Given the description of an element on the screen output the (x, y) to click on. 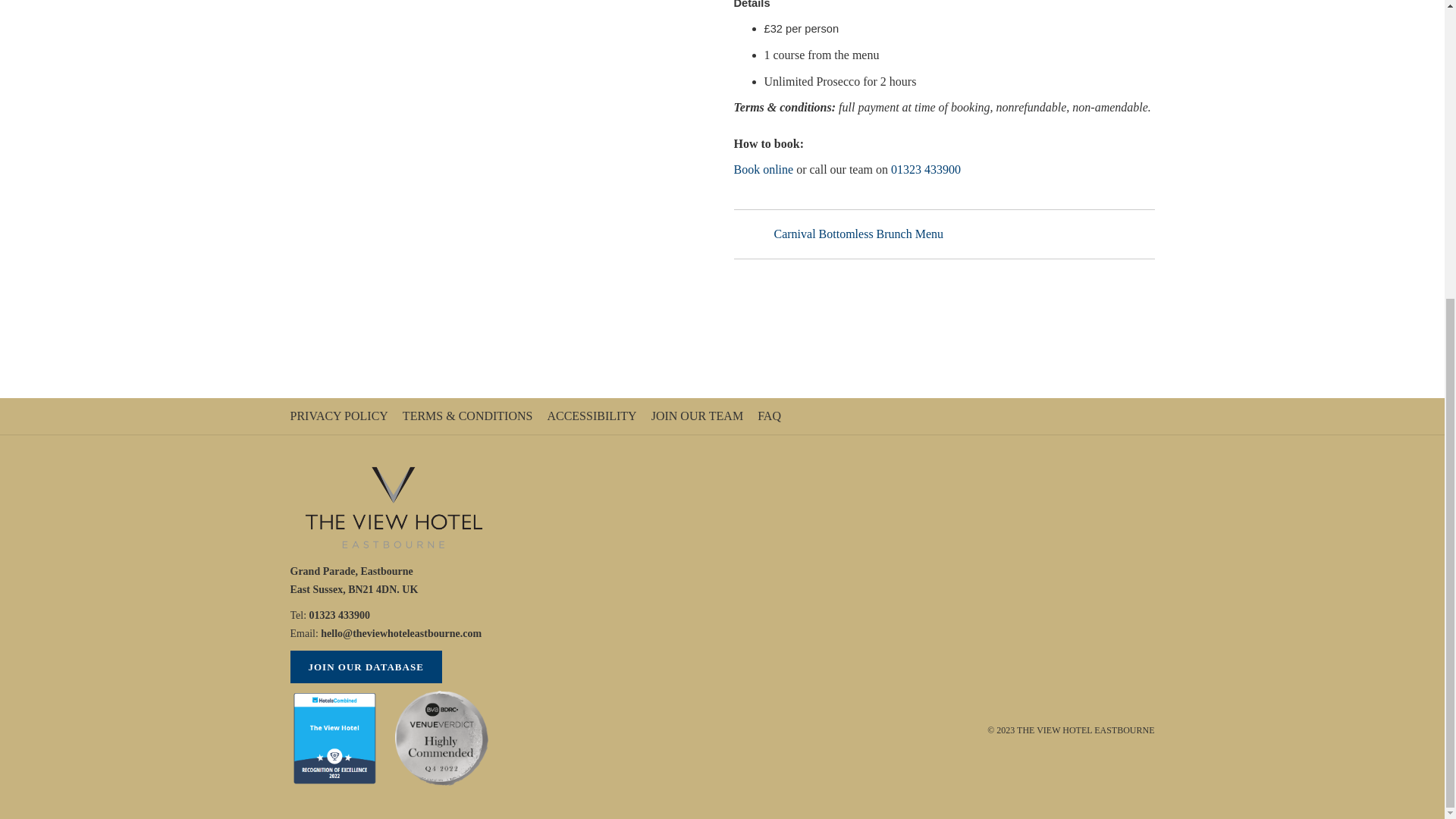
JOIN OUR DATABASE (365, 666)
PRIVACY POLICY (340, 415)
01323 433900 (925, 169)
FAQ (770, 415)
ACCESSIBILITY (593, 415)
Carnival Bottomless Brunch Menu (838, 233)
01323 433900 (337, 614)
JOIN OUR TEAM (698, 415)
Book online (763, 169)
